Given the description of an element on the screen output the (x, y) to click on. 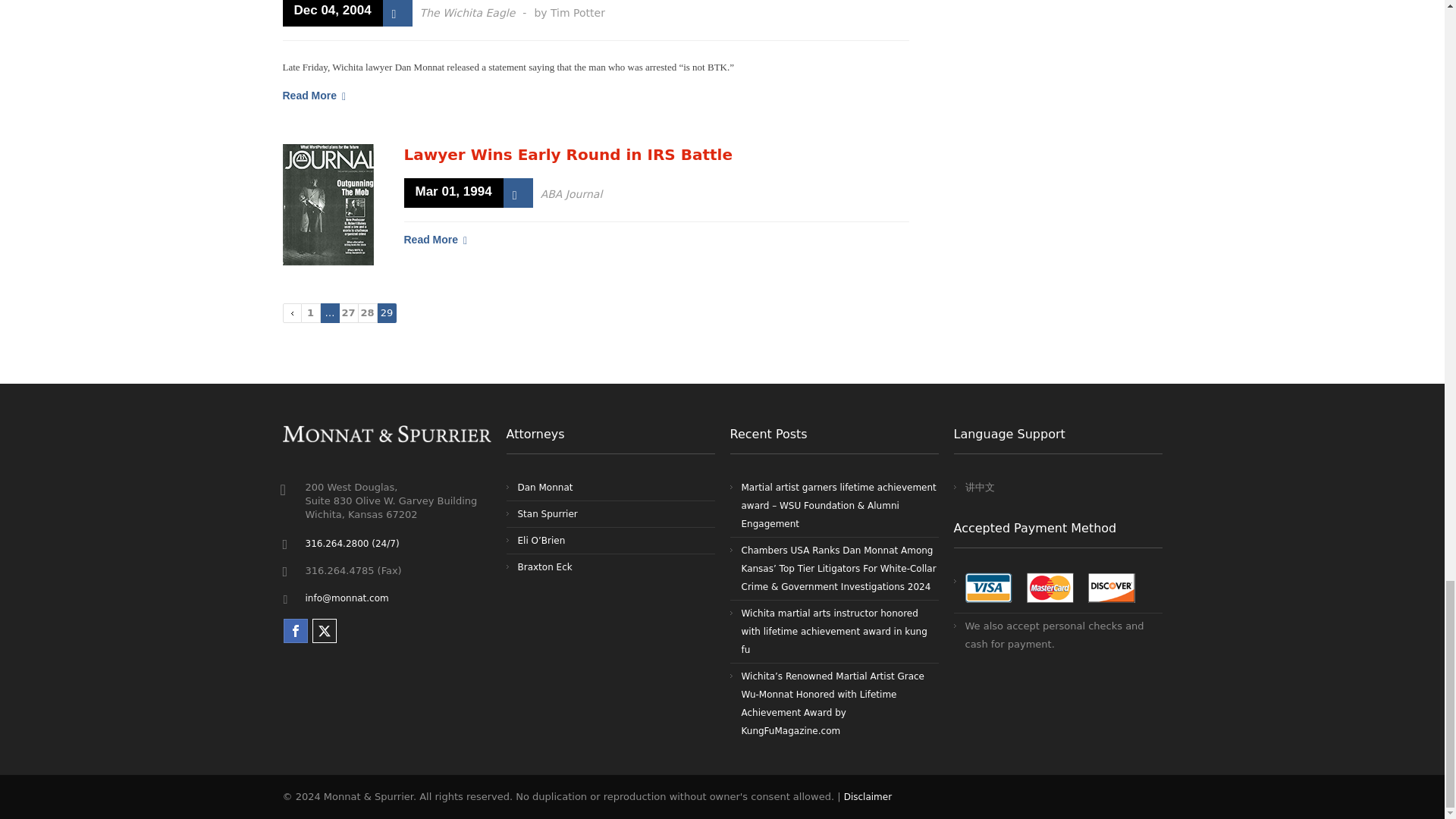
Dec 04, 2004 (331, 12)
Mar 01, 1994 (452, 193)
